Given the description of an element on the screen output the (x, y) to click on. 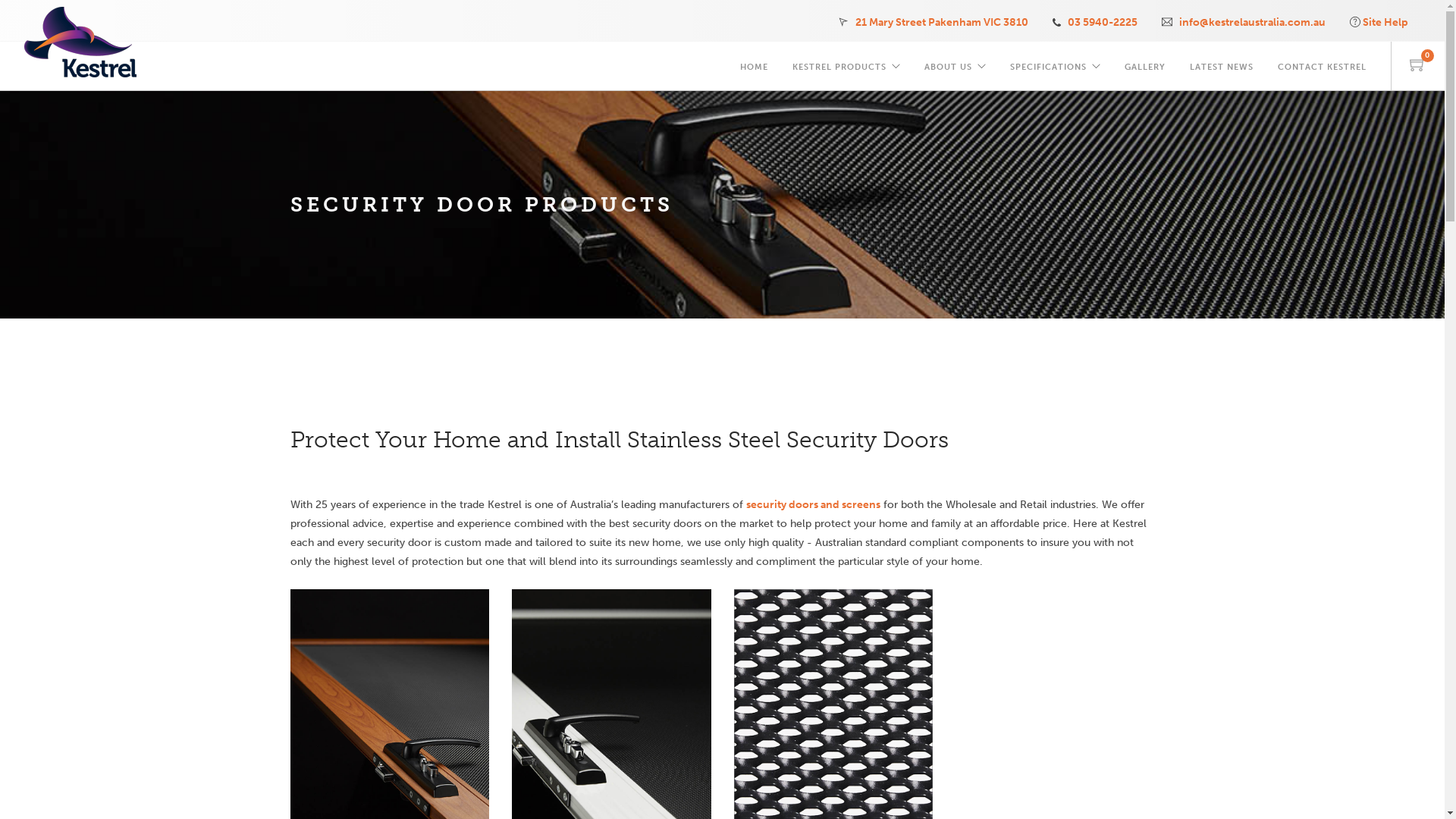
GALLERY Element type: text (1144, 63)
HOME Element type: text (754, 63)
ABOUT US Element type: text (948, 63)
LATEST NEWS Element type: text (1221, 63)
security doors and screens Element type: text (813, 504)
03 5940-2225 Element type: text (1102, 21)
21 Mary Street Pakenham VIC 3810 Element type: text (941, 21)
SPECIFICATIONS Element type: text (1048, 63)
KESTREL PRODUCTS Element type: text (839, 63)
CONTACT KESTREL Element type: text (1321, 63)
Site Help Element type: text (1384, 21)
info@kestrelaustralia.com.au Element type: text (1252, 21)
